Given the description of an element on the screen output the (x, y) to click on. 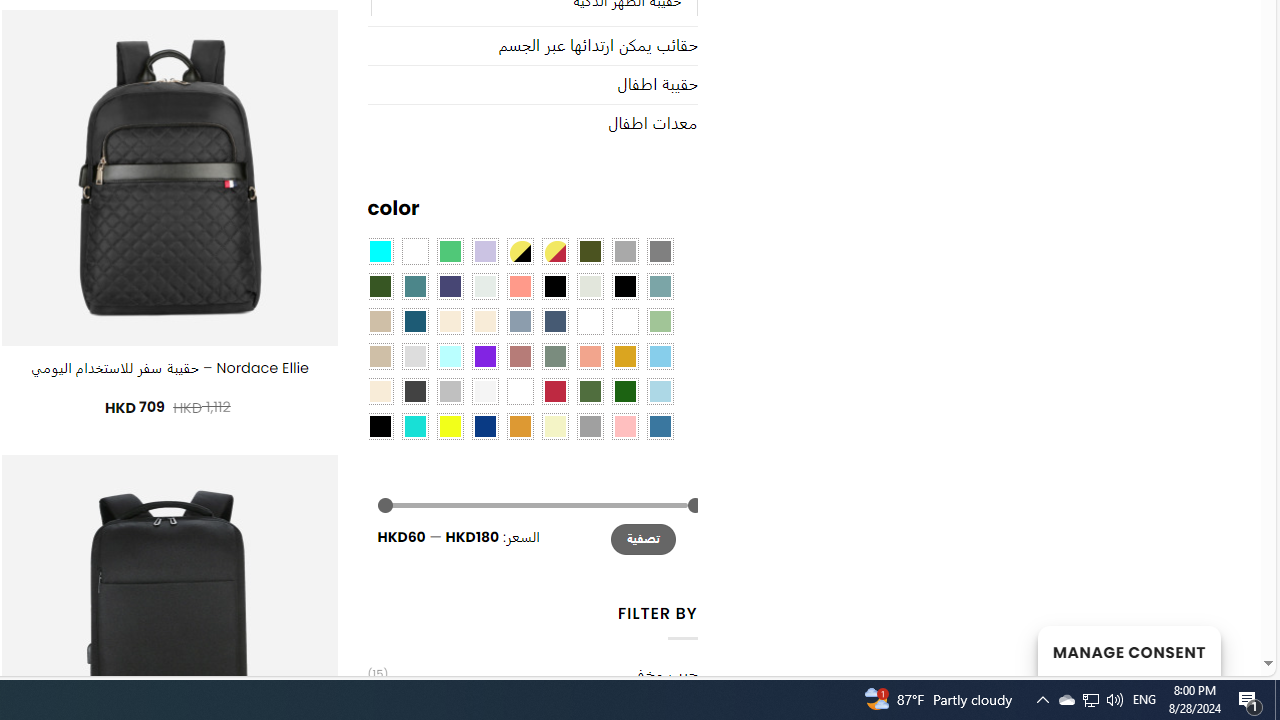
Ash Gray (589, 285)
MANAGE CONSENT (1128, 650)
Rose (519, 355)
Capri Blue (414, 321)
Light-Gray (414, 355)
Light Purple (484, 251)
Light Taupe (379, 355)
